Given the description of an element on the screen output the (x, y) to click on. 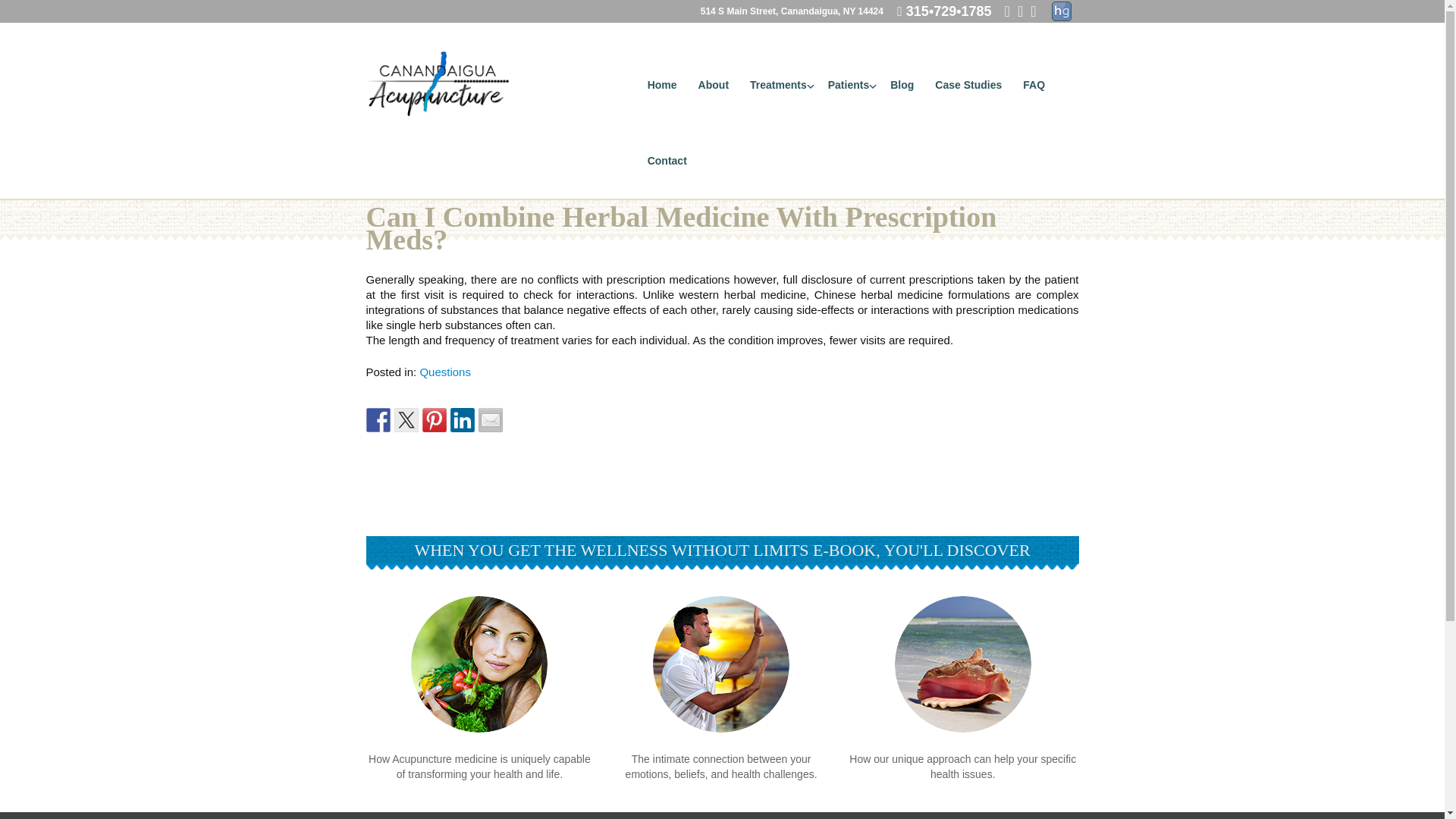
Share on Linkedin (461, 419)
Share on Twitter (406, 419)
Share by email (489, 419)
Contact (667, 160)
FAQ (1033, 84)
Laurie Mitchell (436, 84)
Blog (901, 84)
Pin it with Pinterest (433, 419)
About (713, 84)
Share on Facebook (377, 419)
Treatments (778, 84)
Patients (847, 84)
Questions (444, 371)
Laurie Mitchell (436, 83)
Home (662, 84)
